Given the description of an element on the screen output the (x, y) to click on. 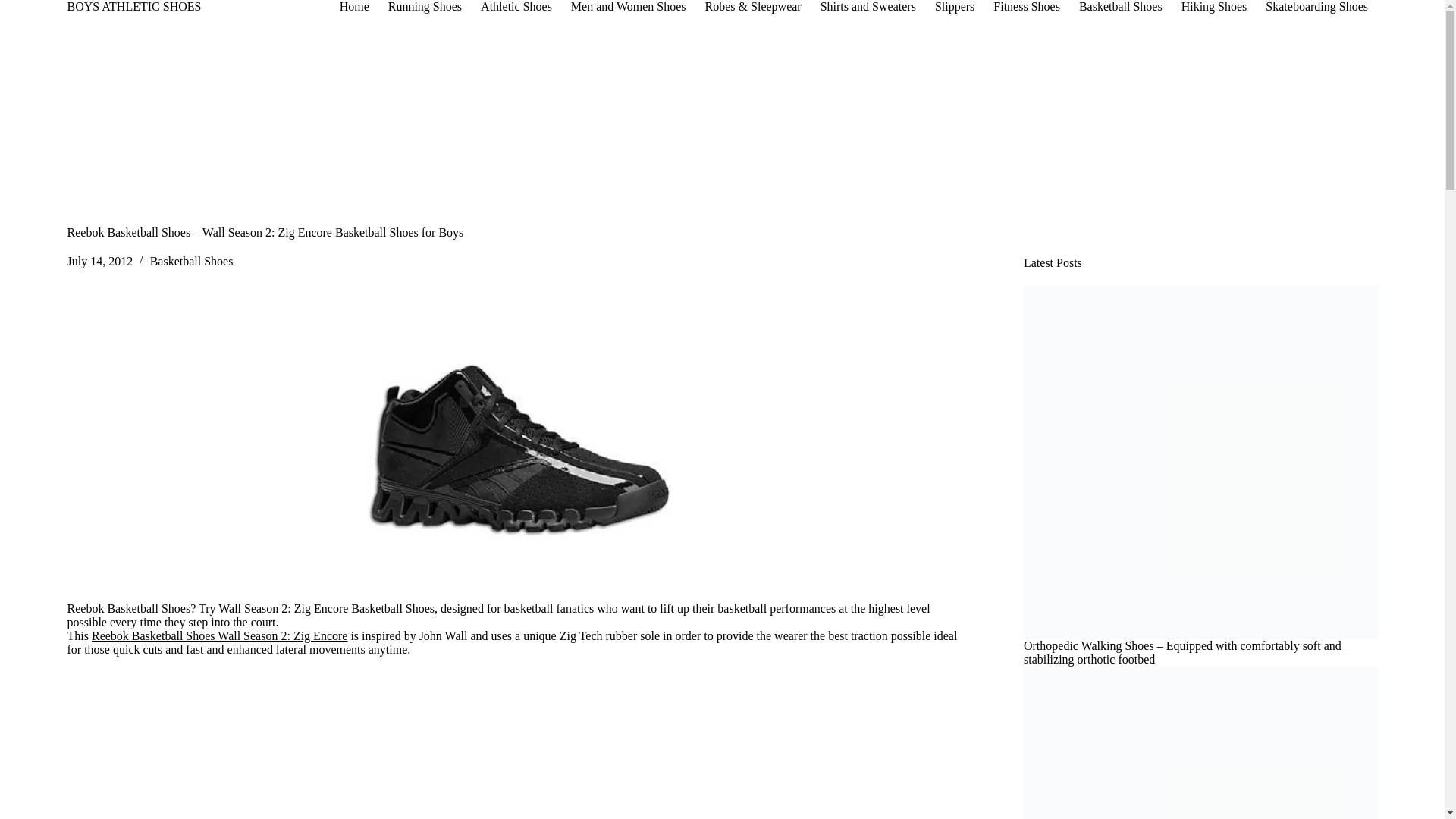
Athletic Shoes (516, 6)
Skateboarding Shoes (1316, 6)
BOYS ATHLETIC SHOES (133, 6)
Fitness Shoes (1027, 6)
Men and Women Shoes (627, 6)
Running Shoes (424, 6)
Shirts and Sweaters (867, 6)
Skip to content (15, 7)
Shirts and Sweaters (867, 6)
Fitness Shoes (1027, 6)
